Given the description of an element on the screen output the (x, y) to click on. 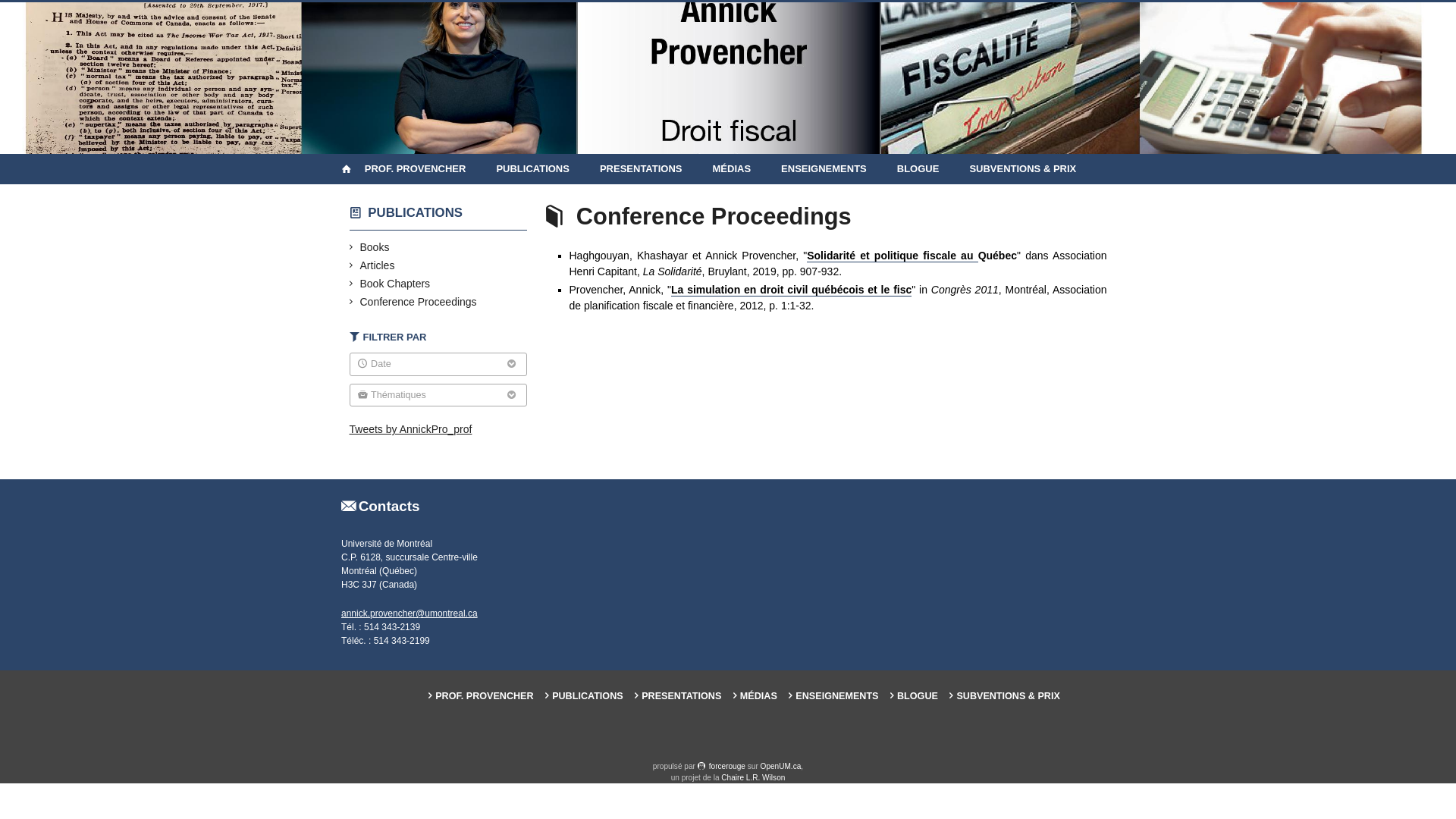
PRESENTATIONS Element type: text (640, 168)
PUBLICATIONS Element type: text (532, 168)
Articles Element type: text (377, 265)
ENSEIGNEMENTS Element type: text (823, 168)
ENSEIGNEMENTS Element type: text (833, 695)
PUBLICATIONS Element type: text (414, 212)
Chaire L.R. Wilson Element type: text (752, 777)
PROF. PROVENCHER Element type: text (480, 695)
OpenUM.ca Element type: text (780, 766)
BLOGUE Element type: text (914, 695)
PROF. PROVENCHER Element type: text (422, 168)
PRESENTATIONS Element type: text (677, 695)
SUBVENTIONS & PRIX Element type: text (1004, 695)
SUBVENTIONS & PRIX Element type: text (1022, 168)
Conference Proceedings Element type: text (418, 301)
Books Element type: text (374, 247)
annick.provencher@umontreal.ca Element type: text (409, 613)
Tweets by AnnickPro_prof Element type: text (409, 429)
BLOGUE Element type: text (917, 168)
PUBLICATIONS Element type: text (584, 695)
forcerouge Element type: text (721, 766)
Book Chapters Element type: text (395, 283)
